Given the description of an element on the screen output the (x, y) to click on. 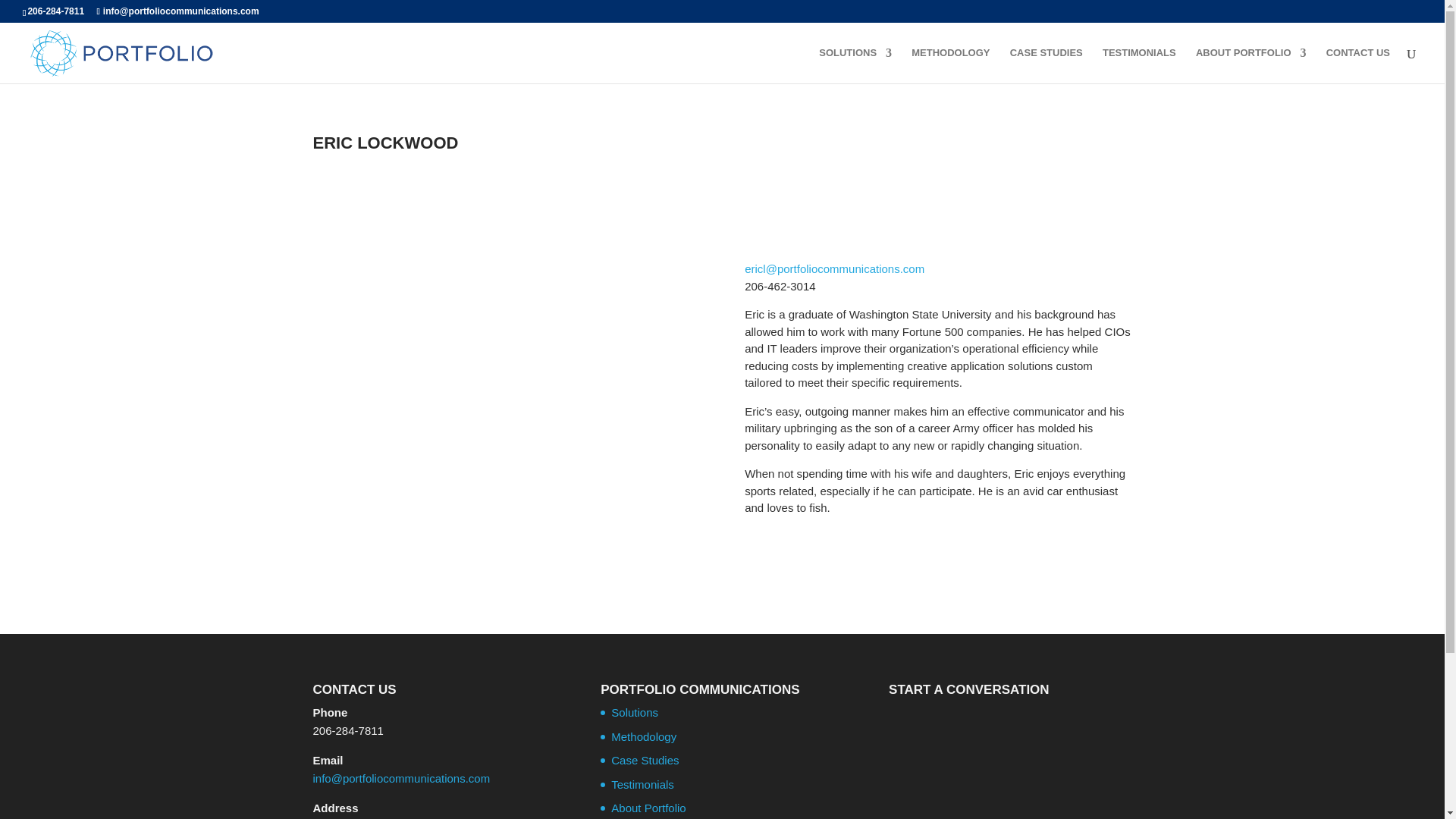
METHODOLOGY (950, 65)
SOLUTIONS (854, 65)
Case Studies (644, 759)
TESTIMONIALS (1139, 65)
CASE STUDIES (1046, 65)
Testimonials (642, 784)
About Portfolio (648, 807)
Methodology (644, 736)
CONTACT US (1358, 65)
Solutions (634, 712)
ABOUT PORTFOLIO (1250, 65)
